Given the description of an element on the screen output the (x, y) to click on. 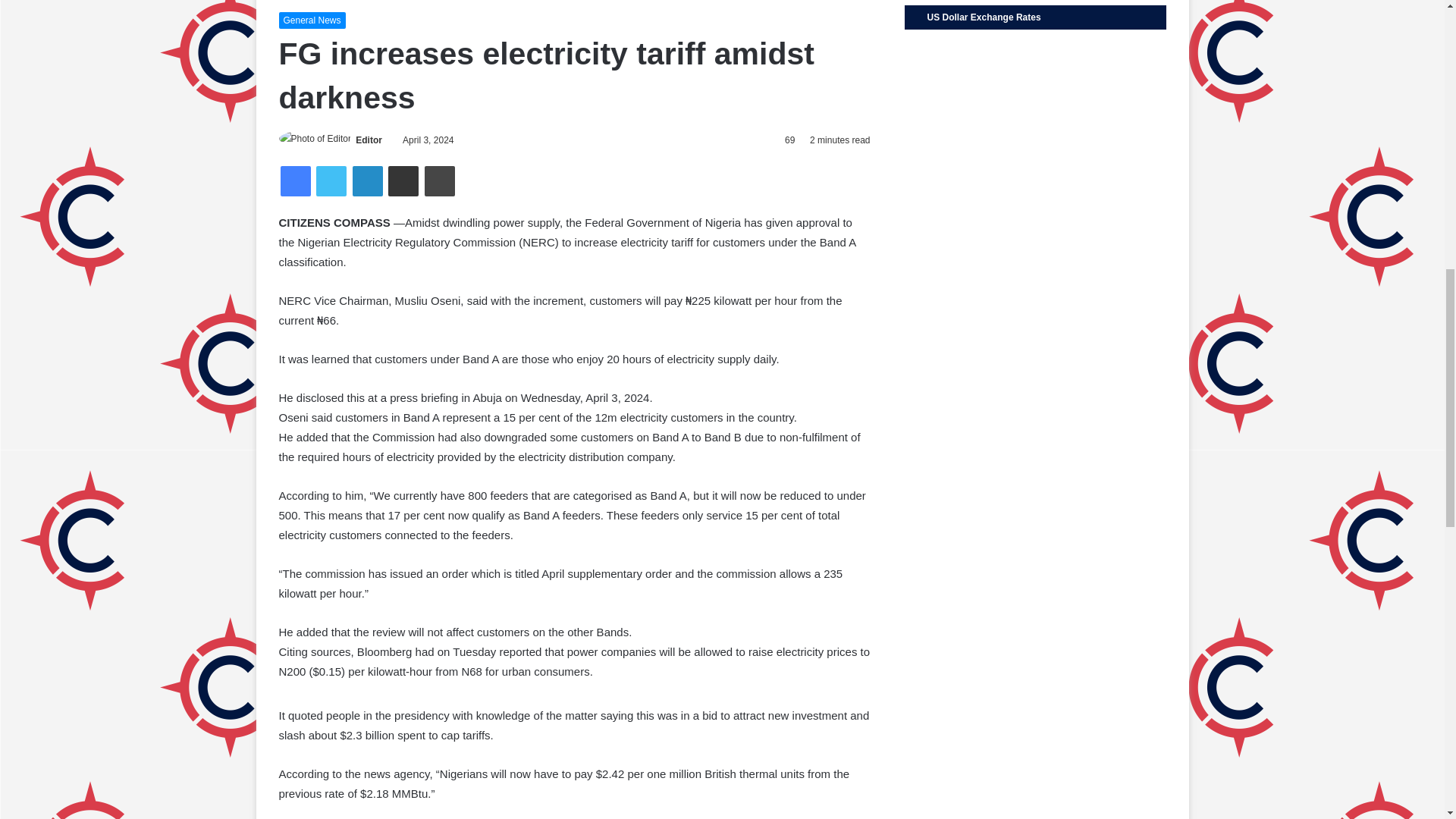
LinkedIn (367, 181)
General News (312, 20)
Share via Email (403, 181)
Share via Email (403, 181)
Twitter (330, 181)
Editor (368, 140)
Twitter (330, 181)
Print (439, 181)
Facebook (296, 181)
Facebook (296, 181)
LinkedIn (367, 181)
Editor (368, 140)
Print (439, 181)
